Given the description of an element on the screen output the (x, y) to click on. 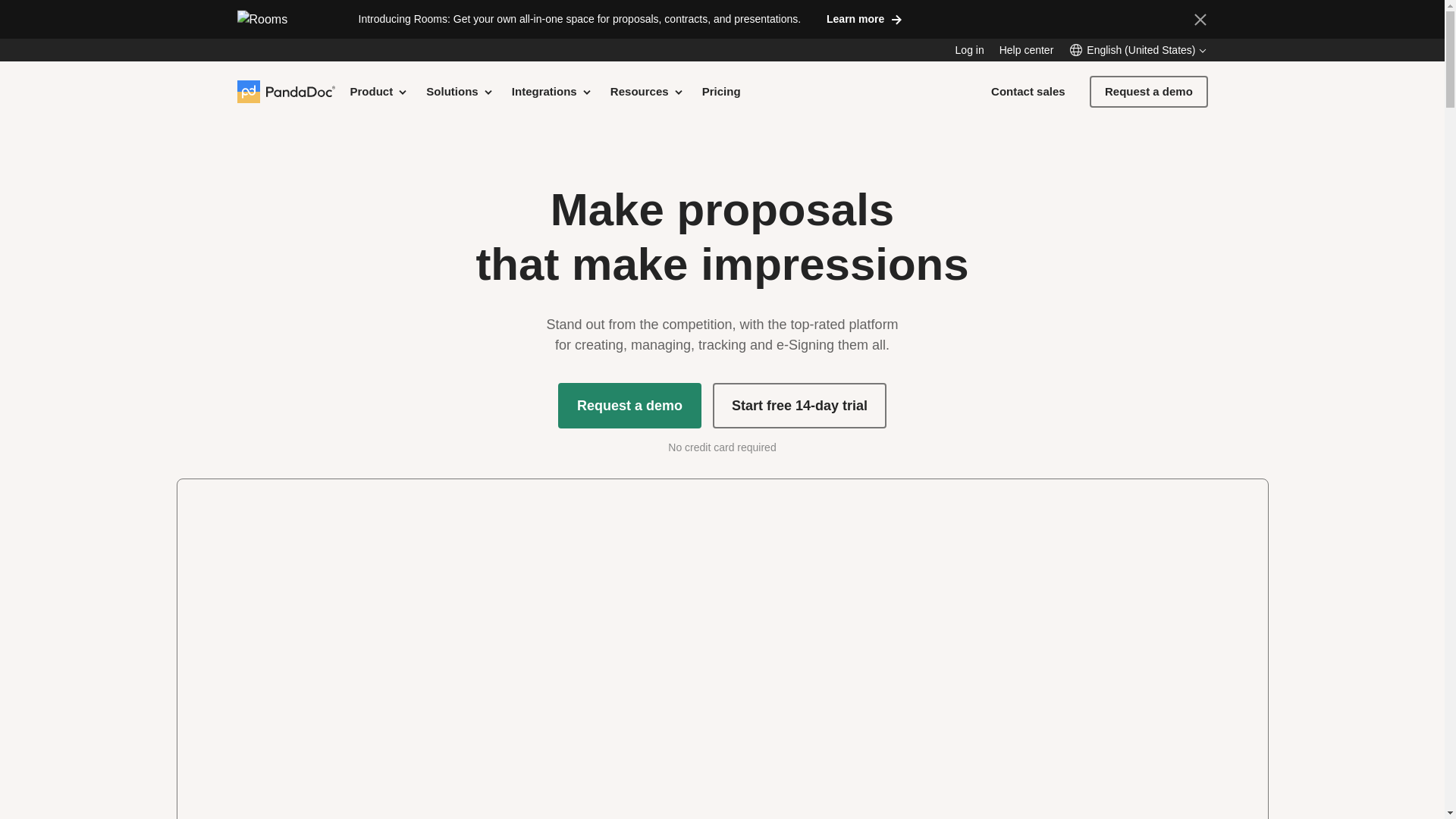
Help center (1026, 50)
Solutions (459, 91)
Learn more (863, 18)
Product (379, 91)
Log in (969, 50)
